Given the description of an element on the screen output the (x, y) to click on. 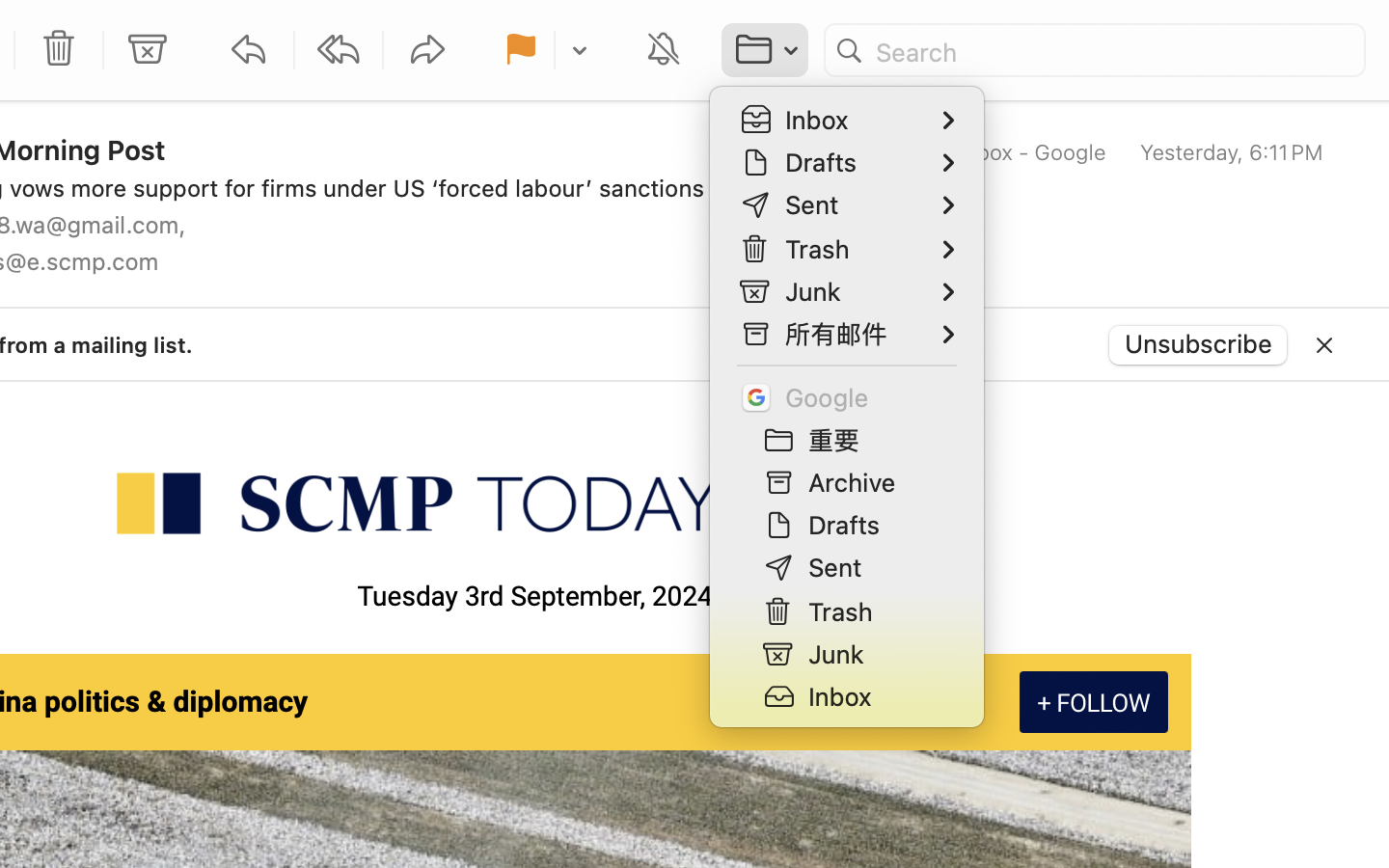
Tuesday 3rd September, 2024 Element type: AXStaticText (534, 596)
0.0 Element type: AXValueIndicator (1377, 312)
Yesterday, 6:11 PM Element type: AXStaticText (1231, 151)
￼Inbox - Google Element type: AXStaticText (1010, 151)
